Given the description of an element on the screen output the (x, y) to click on. 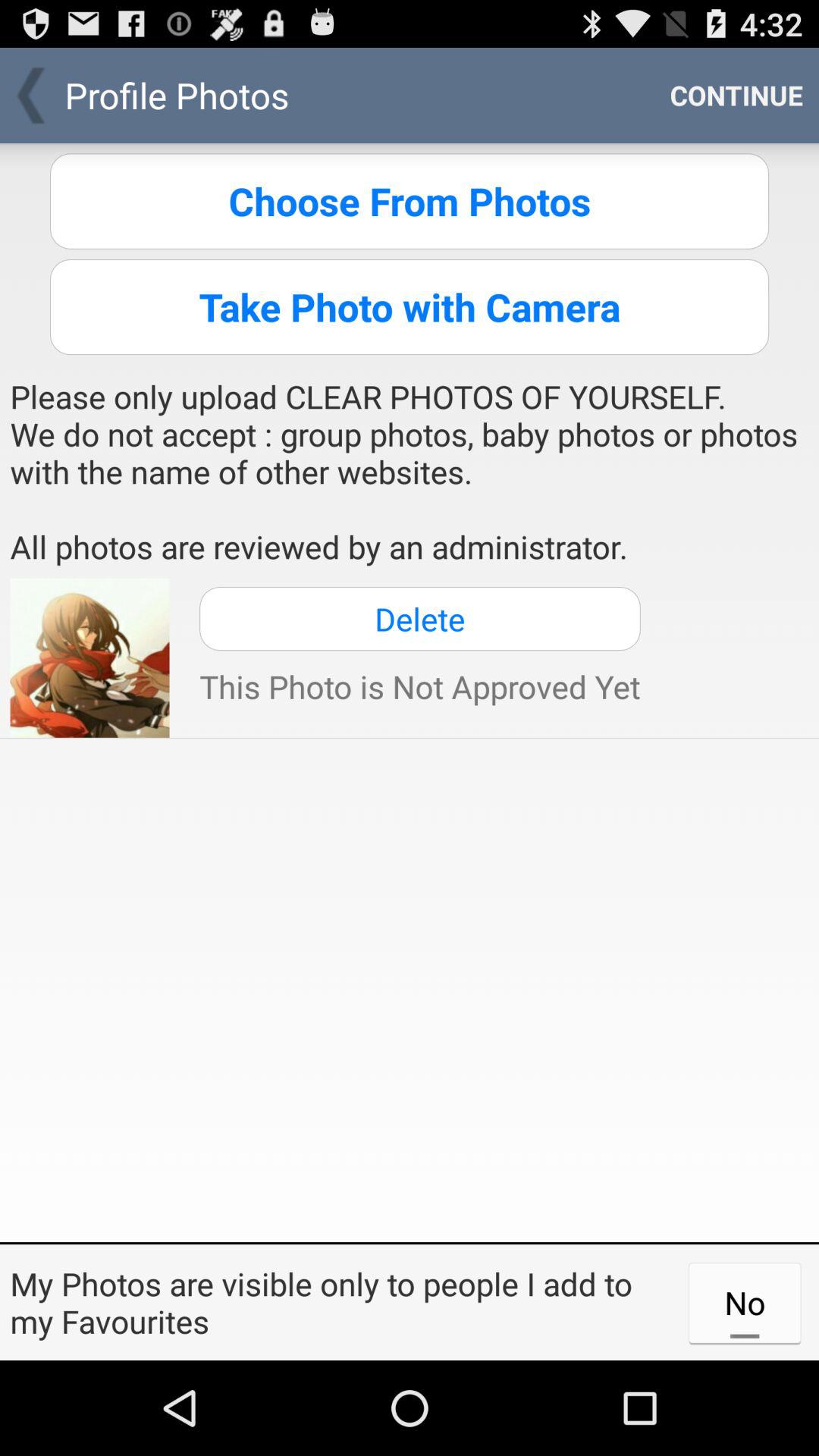
turn off the icon to the left of delete (89, 657)
